Given the description of an element on the screen output the (x, y) to click on. 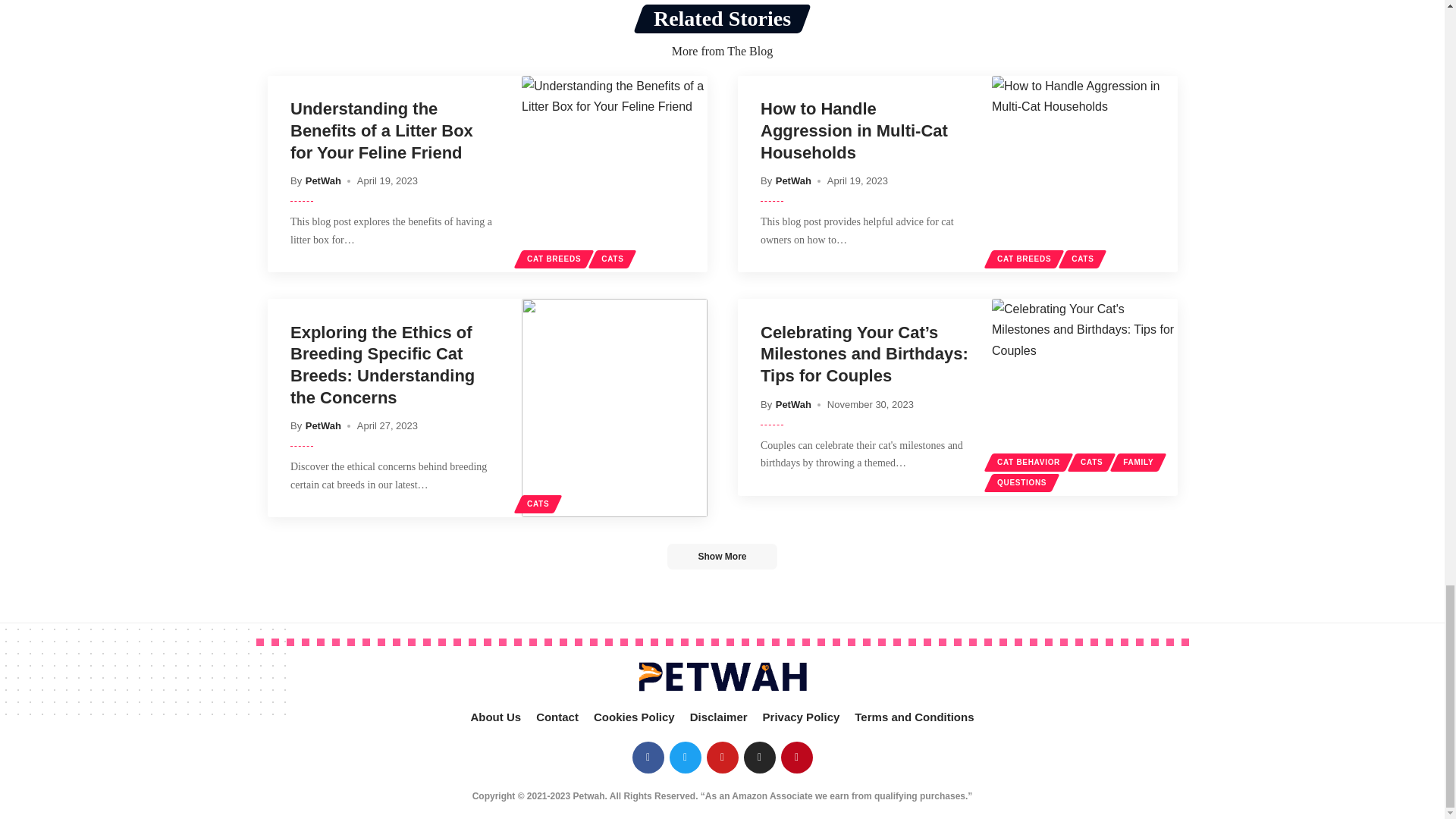
How to Handle Aggression in Multi-Cat Households (1084, 173)
